Given the description of an element on the screen output the (x, y) to click on. 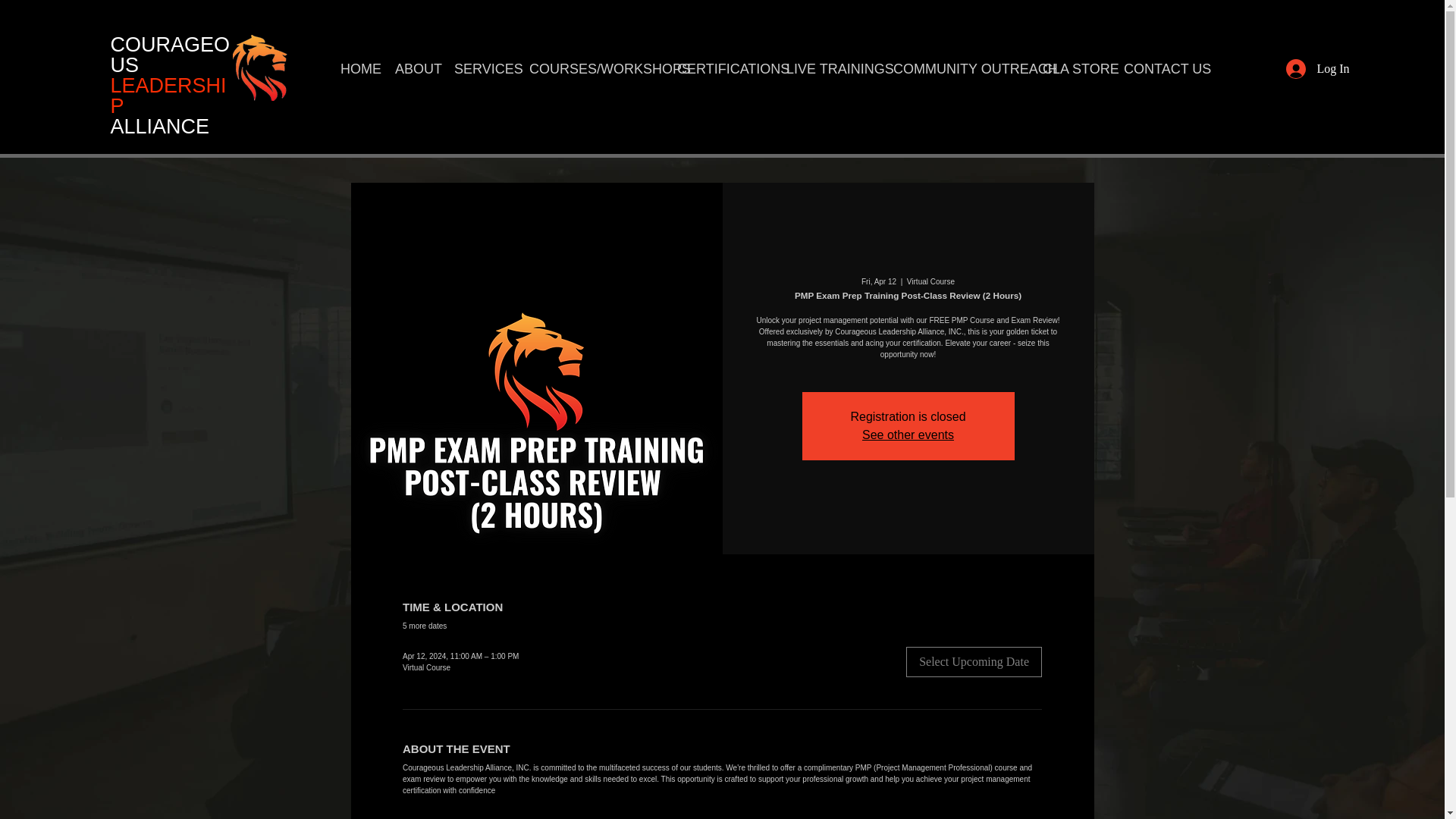
CERTIFICATIONS (719, 68)
See other events (907, 434)
CLA STORE (1071, 68)
HOME (355, 68)
CONTACT US (1157, 68)
COMMUNITY OUTREACH (955, 68)
ABOUT (412, 68)
Log In (1317, 68)
COURAGEOUS (170, 54)
SERVICES (479, 68)
LIVE TRAININGS (827, 68)
